Given the description of an element on the screen output the (x, y) to click on. 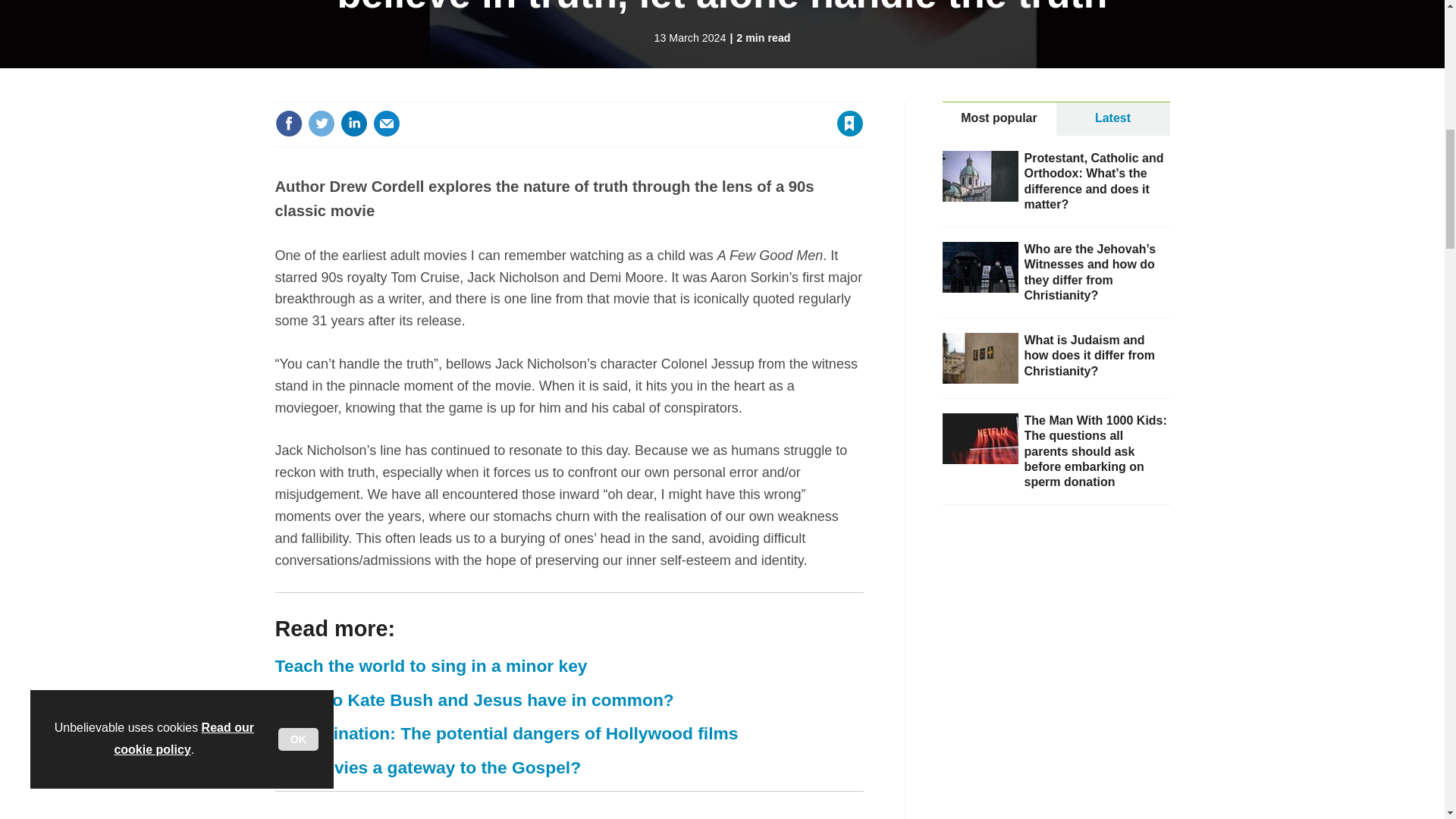
Share this on Linked in (352, 123)
Share this on Facebook (288, 123)
Email this article (386, 123)
Share this on Twitter (320, 123)
